Given the description of an element on the screen output the (x, y) to click on. 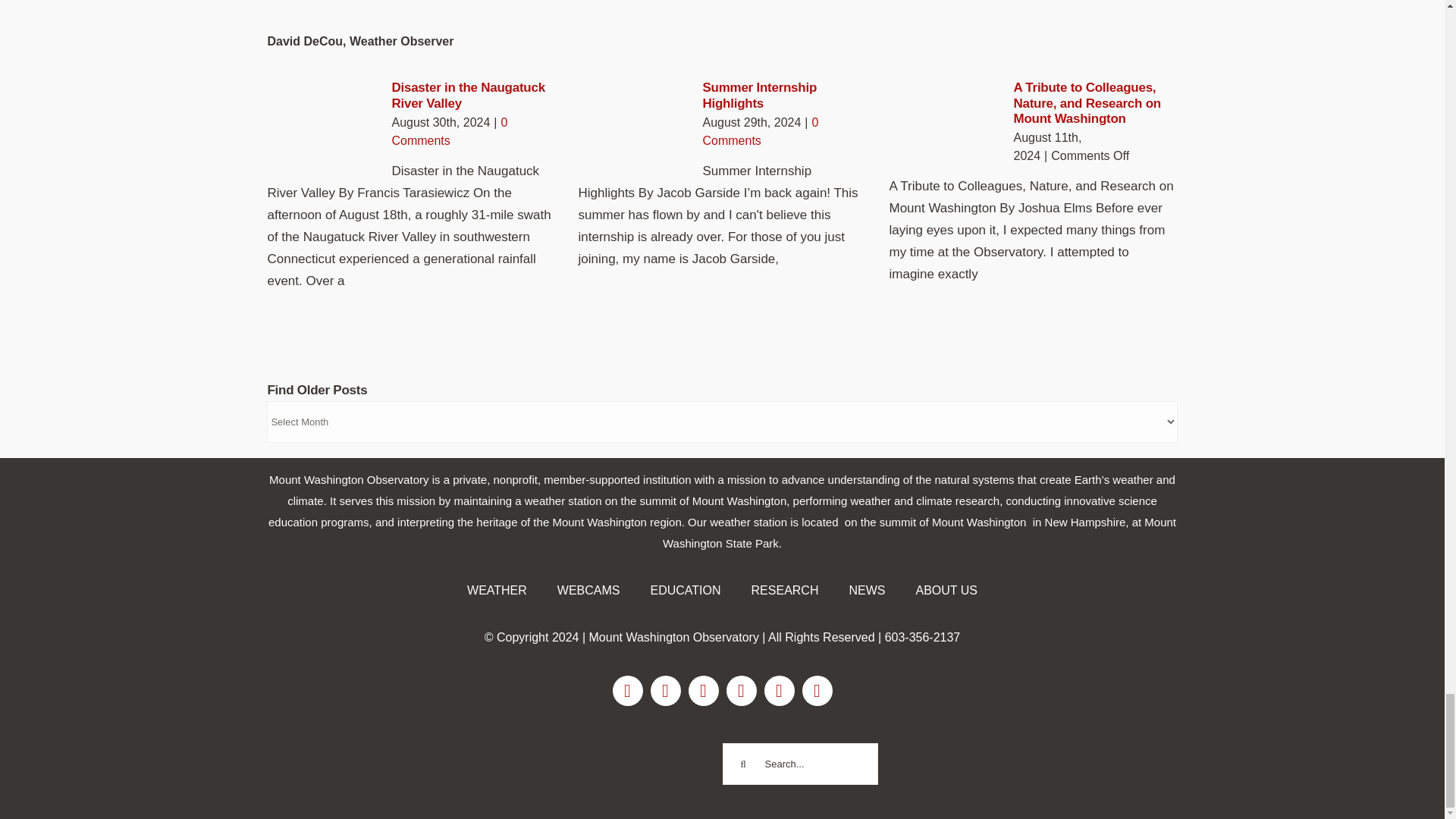
Instagram (665, 690)
Twitter (703, 690)
Facebook (627, 690)
YouTube (741, 690)
Email (779, 690)
Phone (817, 690)
